Given the description of an element on the screen output the (x, y) to click on. 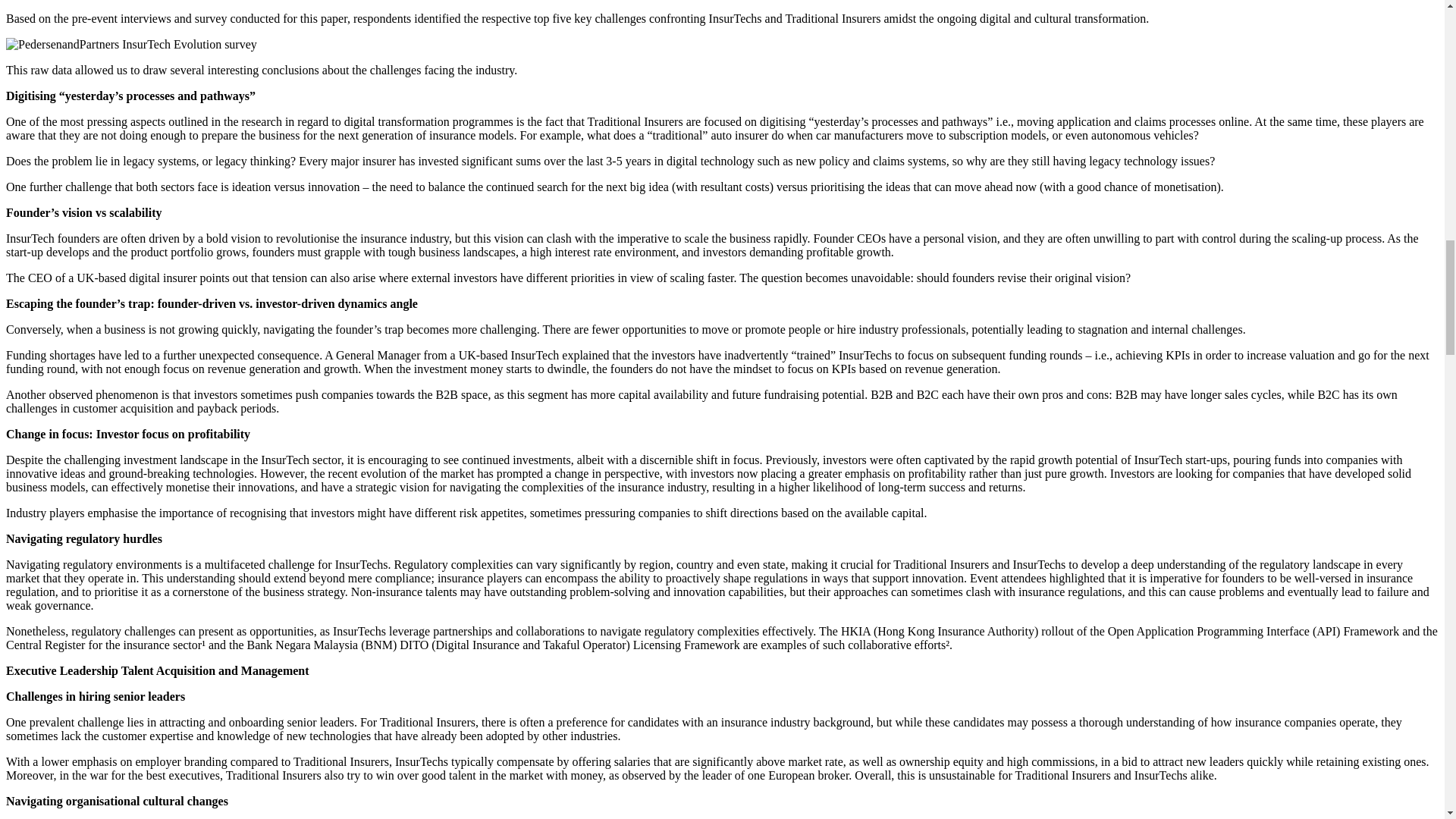
PedersenandPartners InsurTech Evolution survey (131, 44)
